Given the description of an element on the screen output the (x, y) to click on. 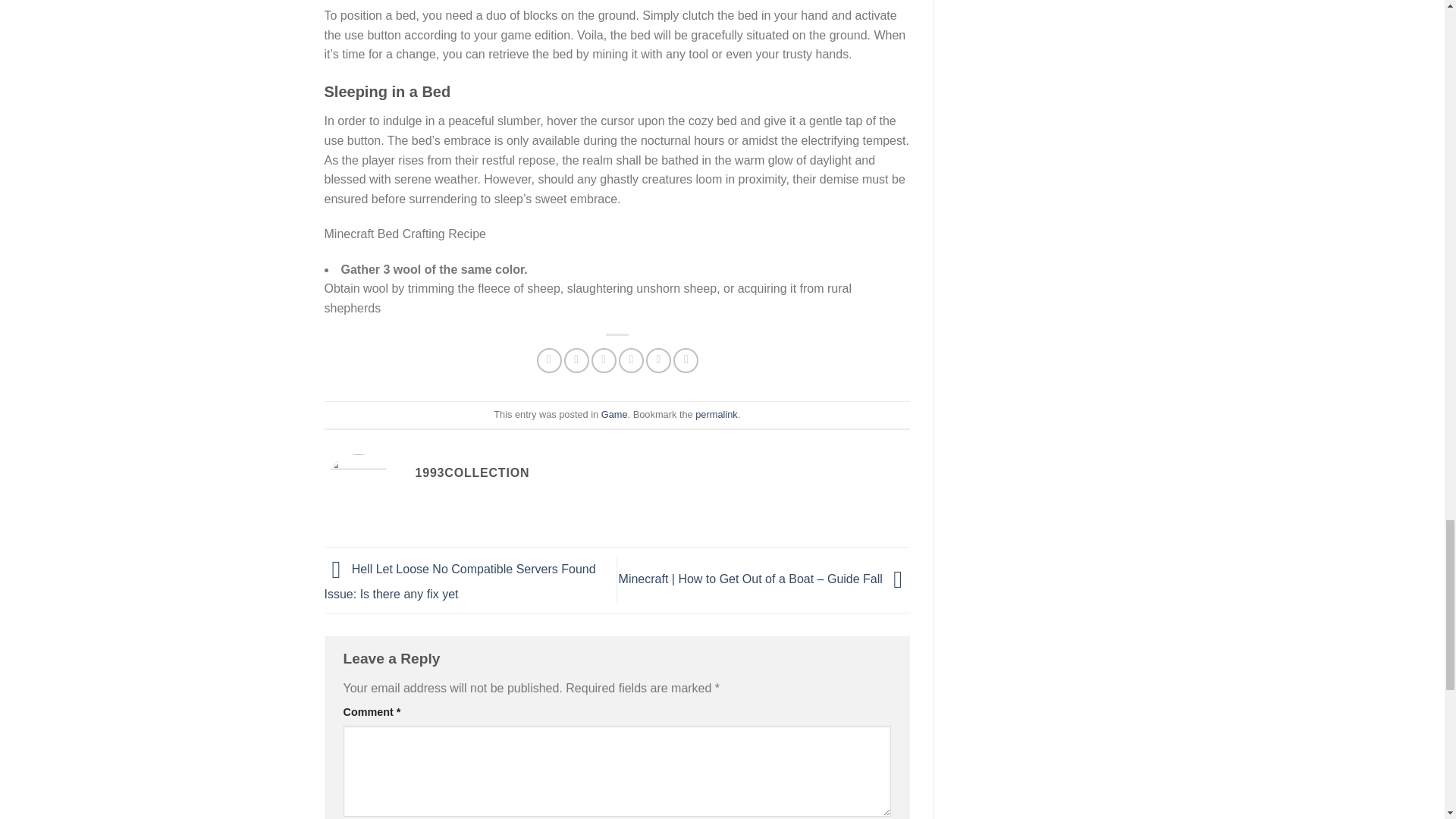
Share on Twitter (576, 360)
Share on Facebook (549, 360)
Pin on Pinterest (630, 360)
Share on LinkedIn (685, 360)
Game (614, 414)
Permalink to How to Make a Bed in Minecraft (715, 414)
Email to a Friend (603, 360)
permalink (715, 414)
